Given the description of an element on the screen output the (x, y) to click on. 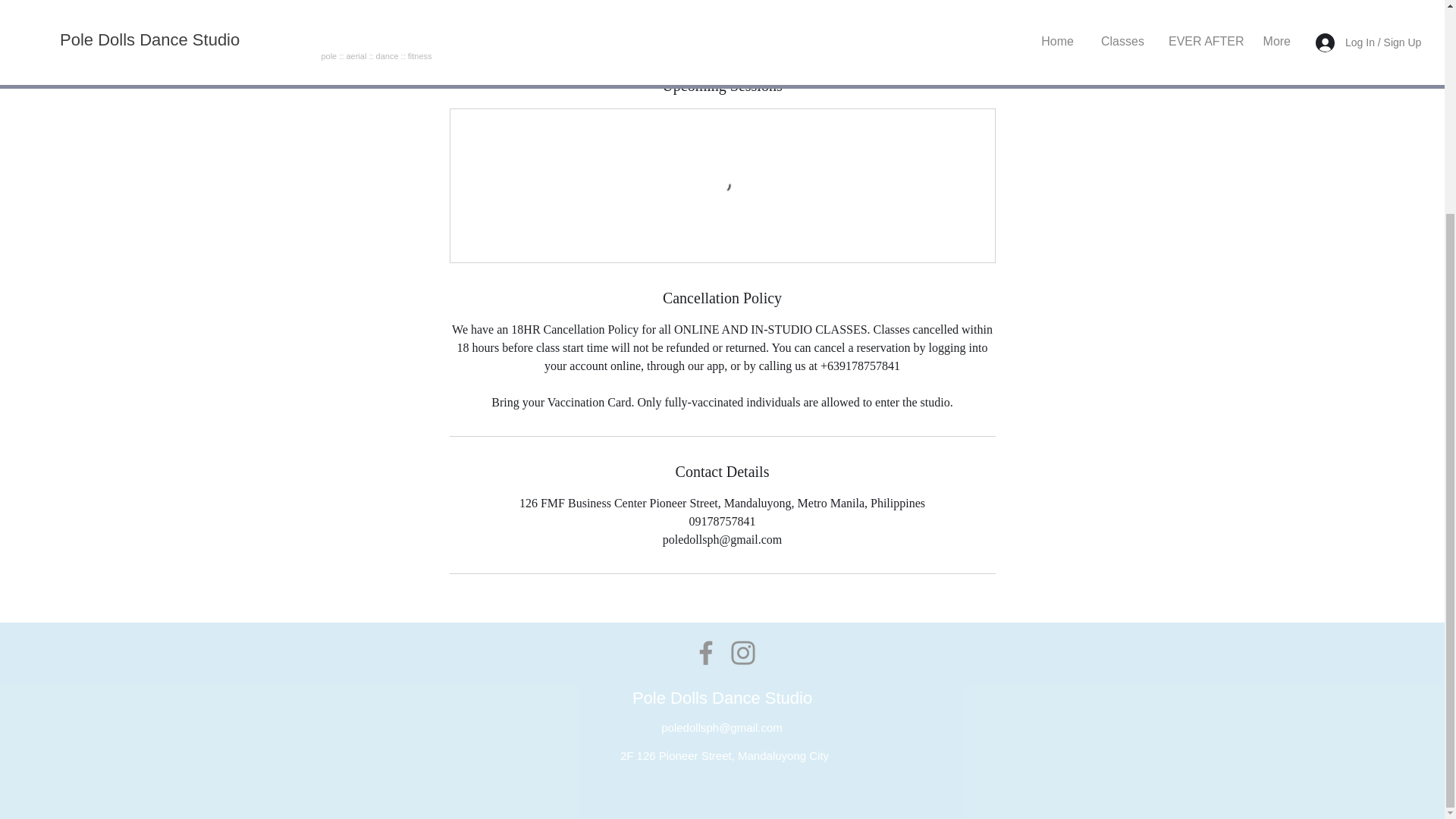
Pole Dolls Dance Studio (721, 697)
